Given the description of an element on the screen output the (x, y) to click on. 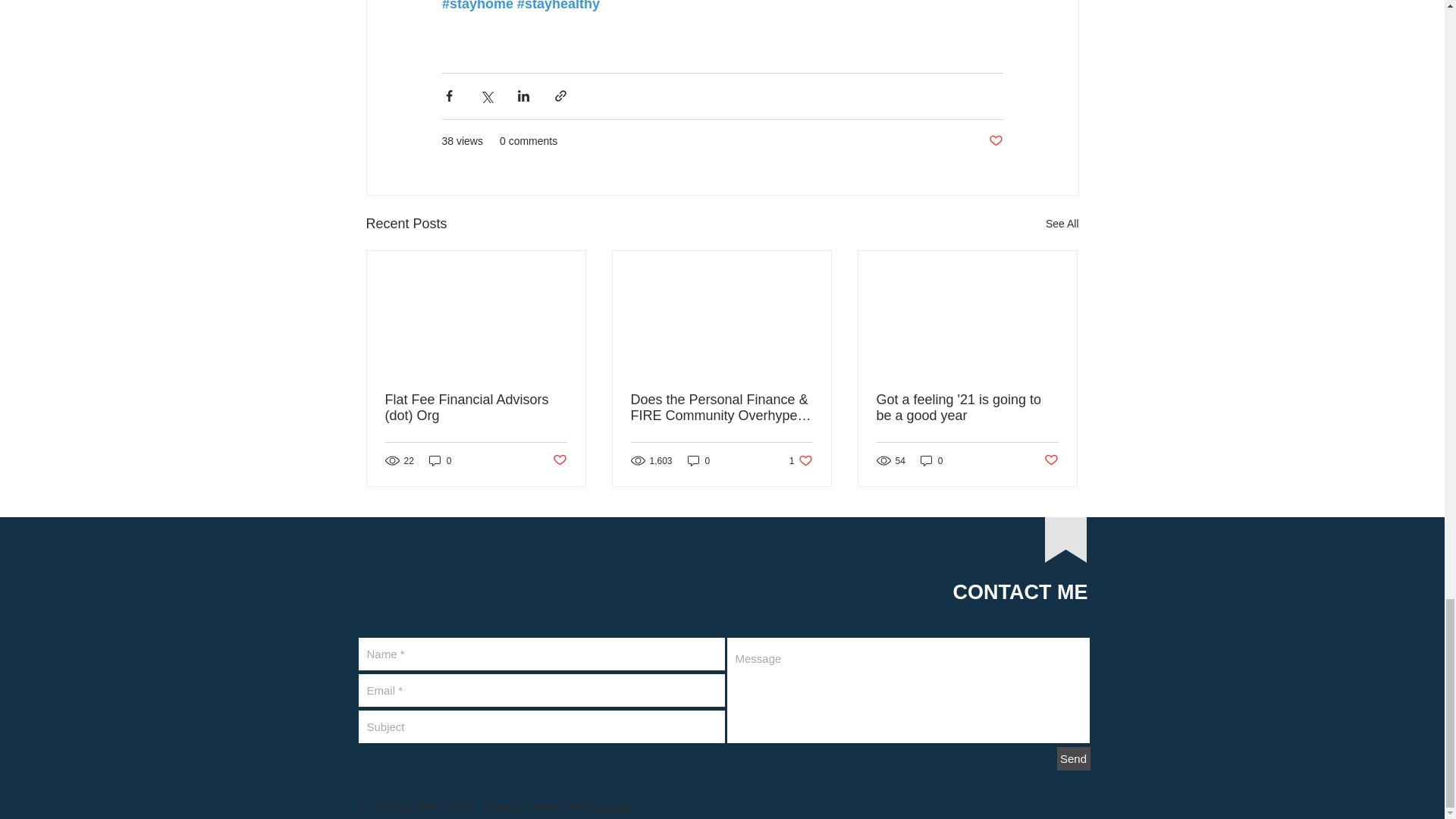
Post not marked as liked (1050, 460)
See All (1061, 223)
0 (440, 460)
Post not marked as liked (995, 141)
0 (698, 460)
0 (931, 460)
Got a feeling '21 is going to be a good year (967, 408)
Post not marked as liked (558, 460)
Send (1073, 758)
Wix.com (609, 806)
